Given the description of an element on the screen output the (x, y) to click on. 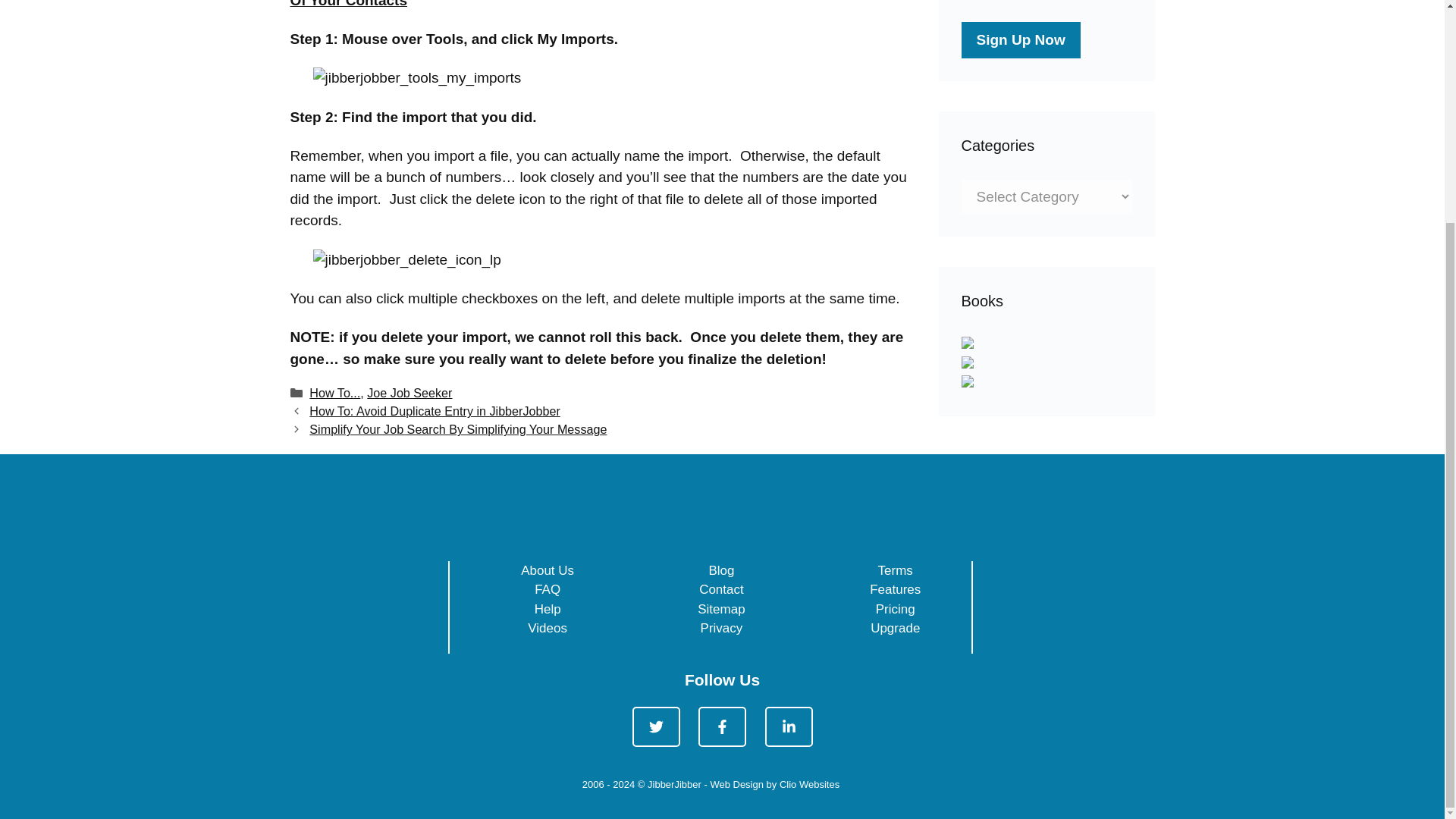
Sign Up Now (1020, 39)
How To... (333, 392)
How To: Avoid Duplicate Entry in JibberJobber (433, 410)
FAQ (547, 589)
Help (547, 608)
Terms (894, 570)
Sitemap (720, 608)
Simplify Your Job Search By Simplifying Your Message (457, 428)
Previous (433, 410)
How To Delete All Of Your Contacts (600, 4)
Blog (720, 570)
About Us (547, 570)
Next (457, 428)
Joe Job Seeker (408, 392)
Pricing (895, 608)
